Given the description of an element on the screen output the (x, y) to click on. 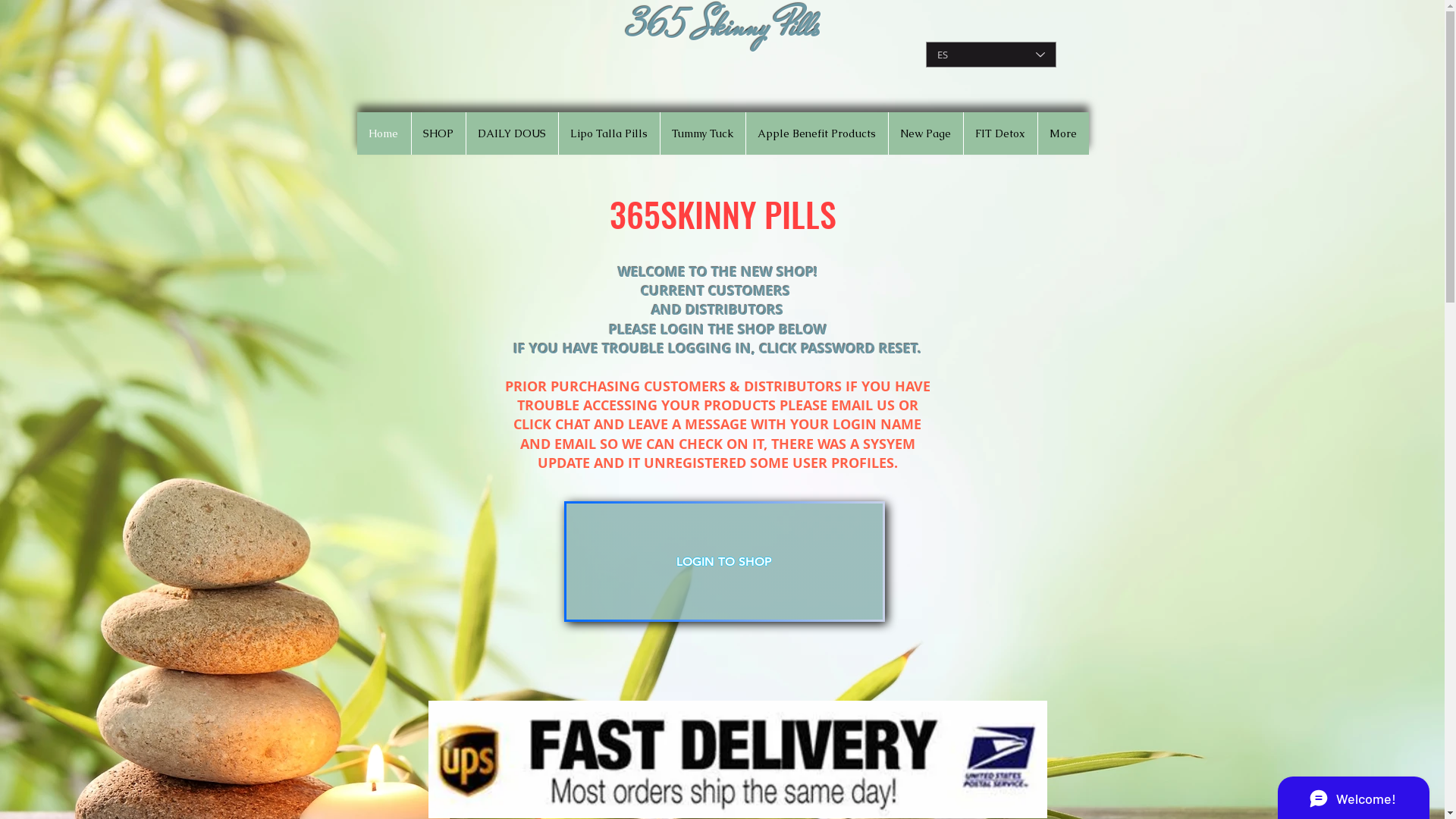
New Page Element type: text (924, 133)
365 Skinny Pills Element type: text (724, 26)
DAILY DOUS Element type: text (511, 133)
Apple Benefit Products Element type: text (815, 133)
SHOP Element type: text (438, 133)
LOGIN TO SHOP Element type: text (724, 561)
Home Element type: text (383, 133)
Tummy Tuck Element type: text (702, 133)
Lipo Talla Pills Element type: text (608, 133)
FIT Detox Element type: text (1000, 133)
